Given the description of an element on the screen output the (x, y) to click on. 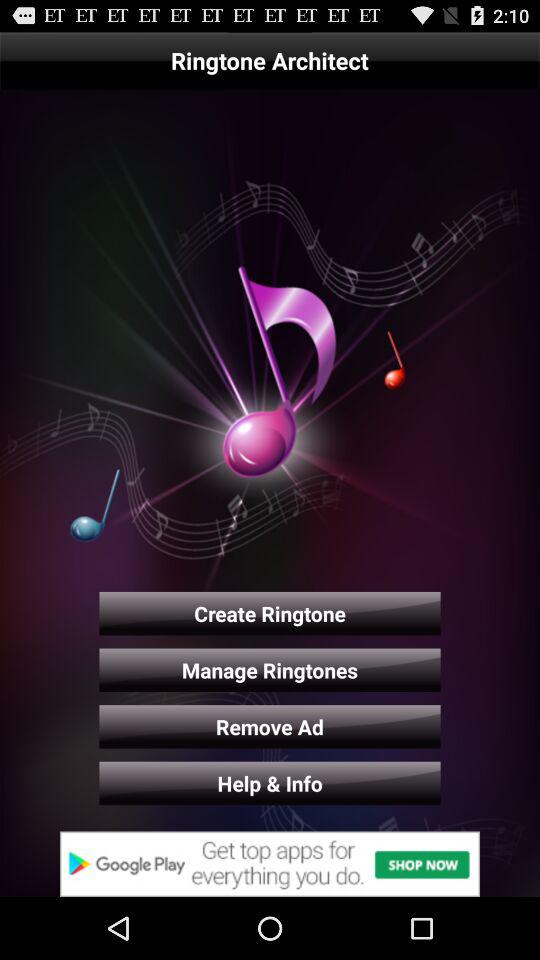
view advertisement (270, 864)
